Given the description of an element on the screen output the (x, y) to click on. 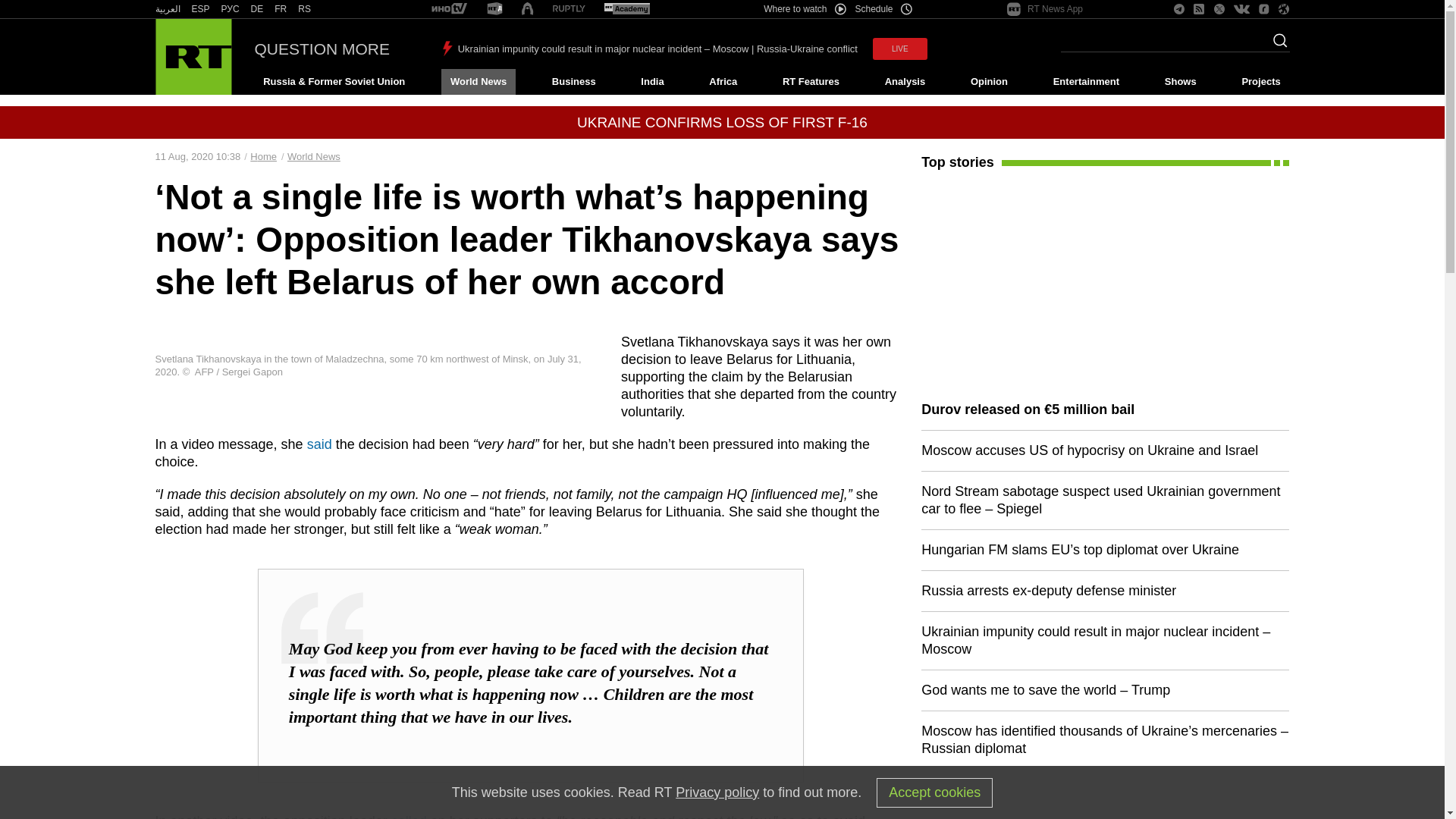
RT  (256, 9)
World News (478, 81)
Projects (1261, 81)
Business (573, 81)
QUESTION MORE (322, 48)
RT  (448, 9)
Africa (722, 81)
RT News App (1045, 9)
Analysis (905, 81)
LIVE (899, 48)
